Given the description of an element on the screen output the (x, y) to click on. 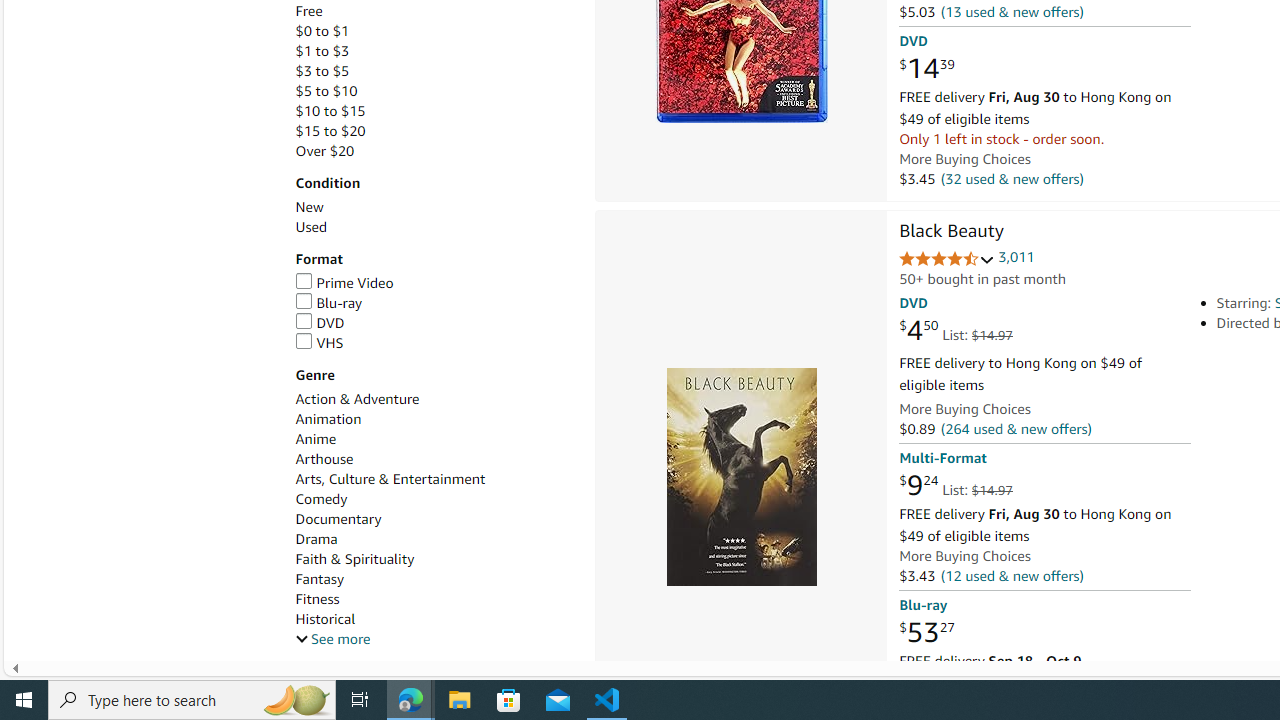
Comedy (434, 499)
$0 to $1 (434, 31)
Fitness (317, 599)
$10 to $15 (330, 111)
Black Beauty (740, 476)
Blu-ray (328, 303)
DVD (434, 323)
$3 to $5 (434, 71)
$15 to $20 (330, 131)
Anime (315, 439)
